Given the description of an element on the screen output the (x, y) to click on. 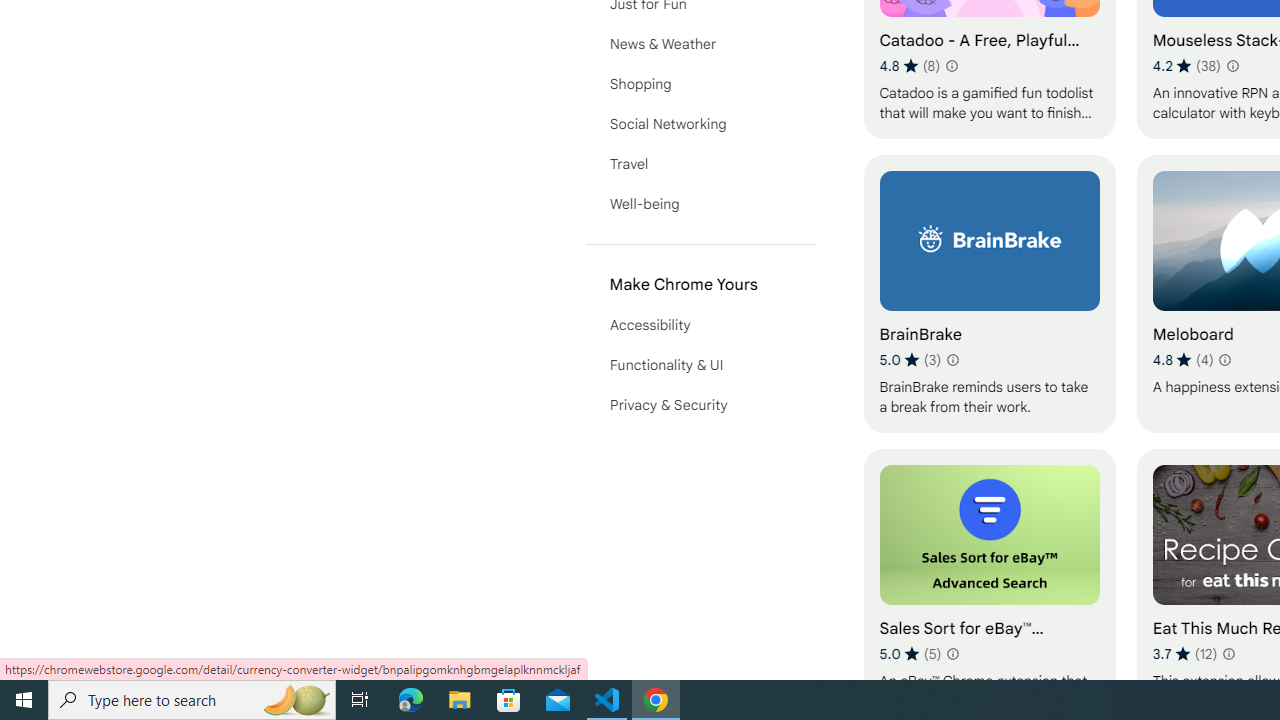
News & Weather (700, 43)
Travel (700, 164)
Average rating 4.2 out of 5 stars. 38 ratings. (1187, 66)
Privacy & Security (700, 404)
Average rating 4.8 out of 5 stars. 4 ratings. (1182, 359)
